Given the description of an element on the screen output the (x, y) to click on. 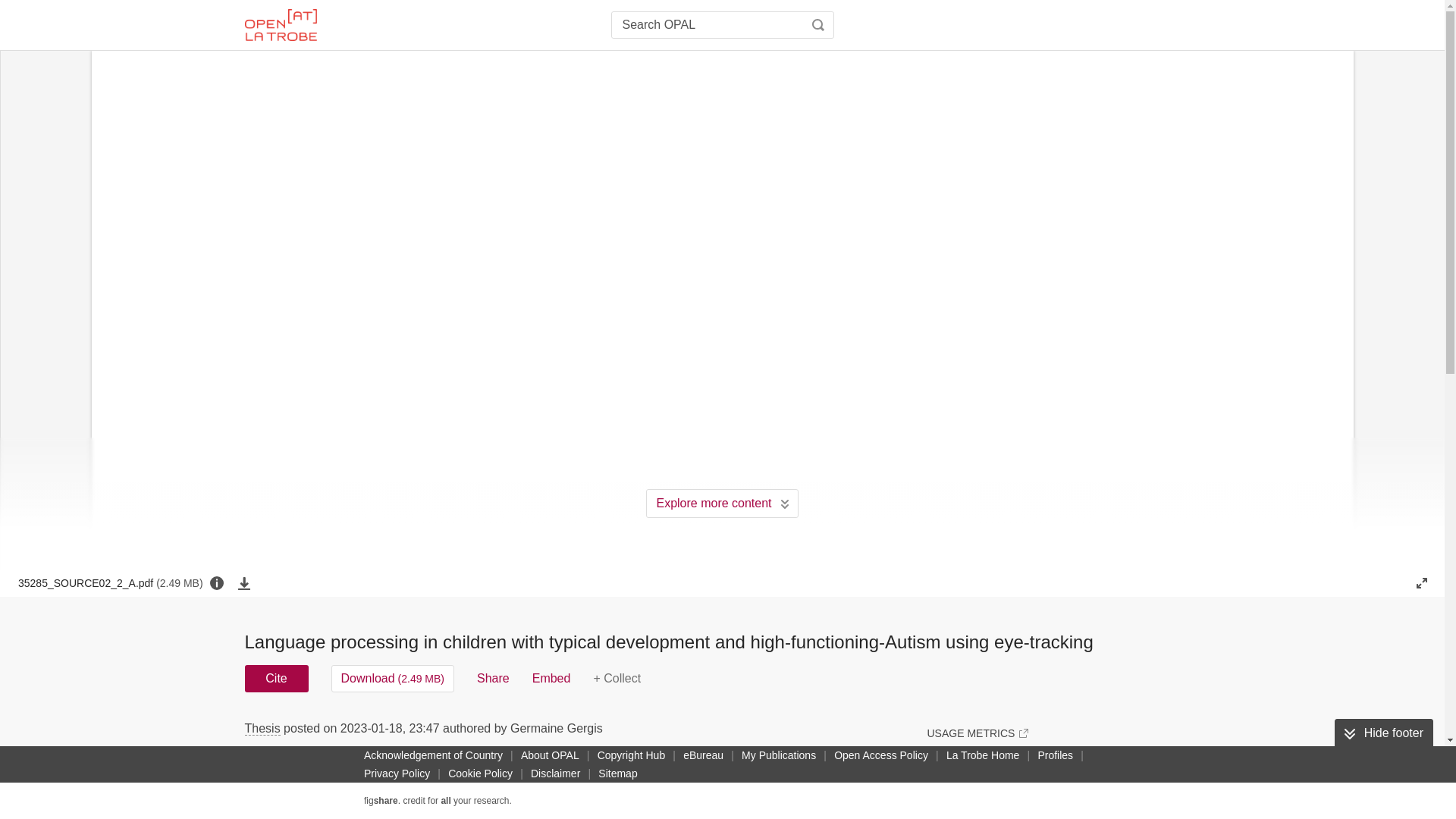
Hide footer (1383, 733)
La Trobe Home (983, 755)
Explore more content (721, 502)
Disclaimer (555, 773)
My Publications (778, 755)
Share (493, 678)
eBureau (703, 755)
Embed (551, 678)
Privacy Policy (396, 773)
Open Access Policy (881, 755)
